Given the description of an element on the screen output the (x, y) to click on. 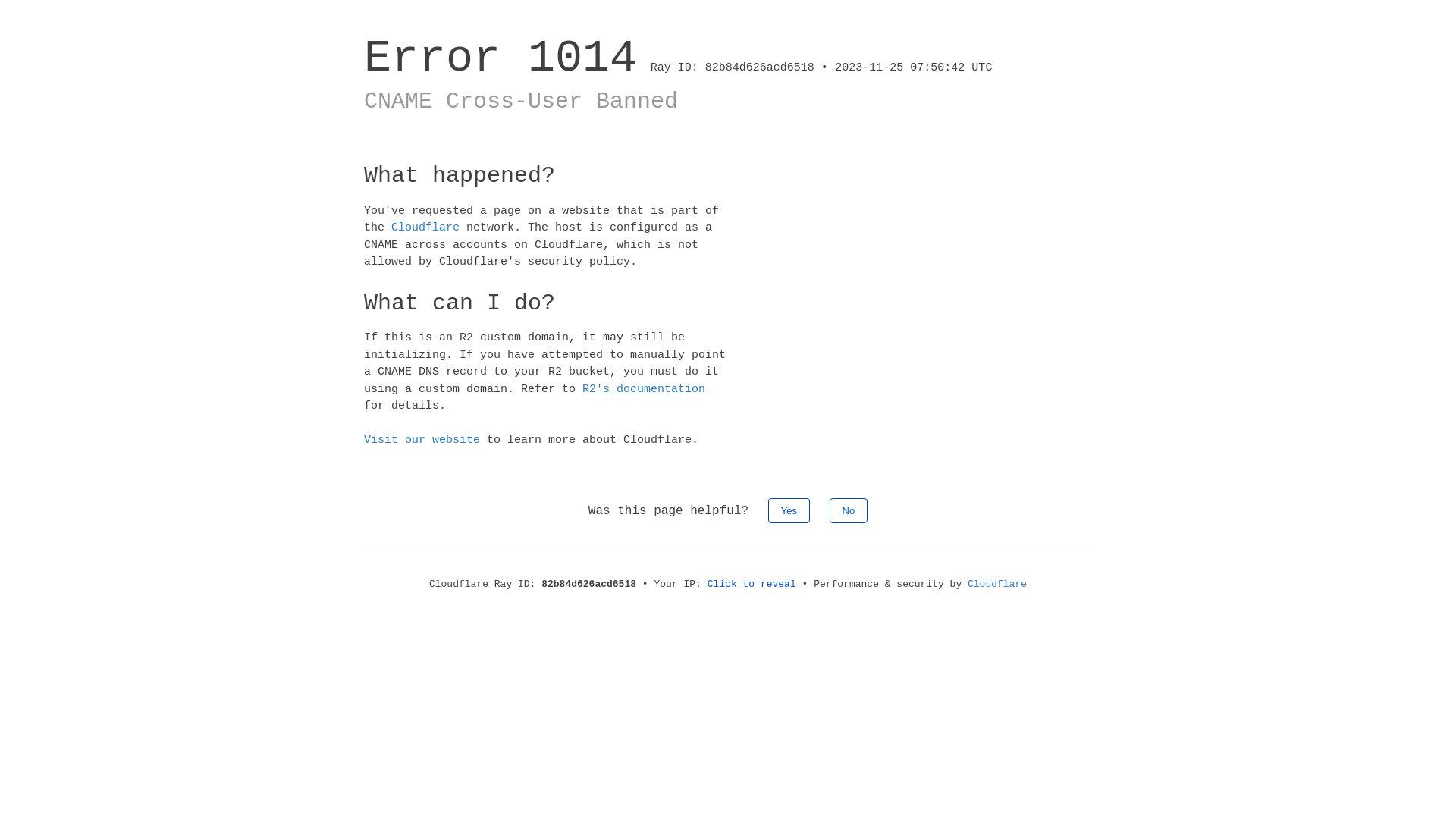
R2's documentation Element type: text (643, 388)
Cloudflare Element type: text (996, 583)
Visit our website Element type: text (422, 439)
Click to reveal Element type: text (751, 583)
No Element type: text (848, 509)
Cloudflare Element type: text (425, 227)
Yes Element type: text (788, 509)
